Given the description of an element on the screen output the (x, y) to click on. 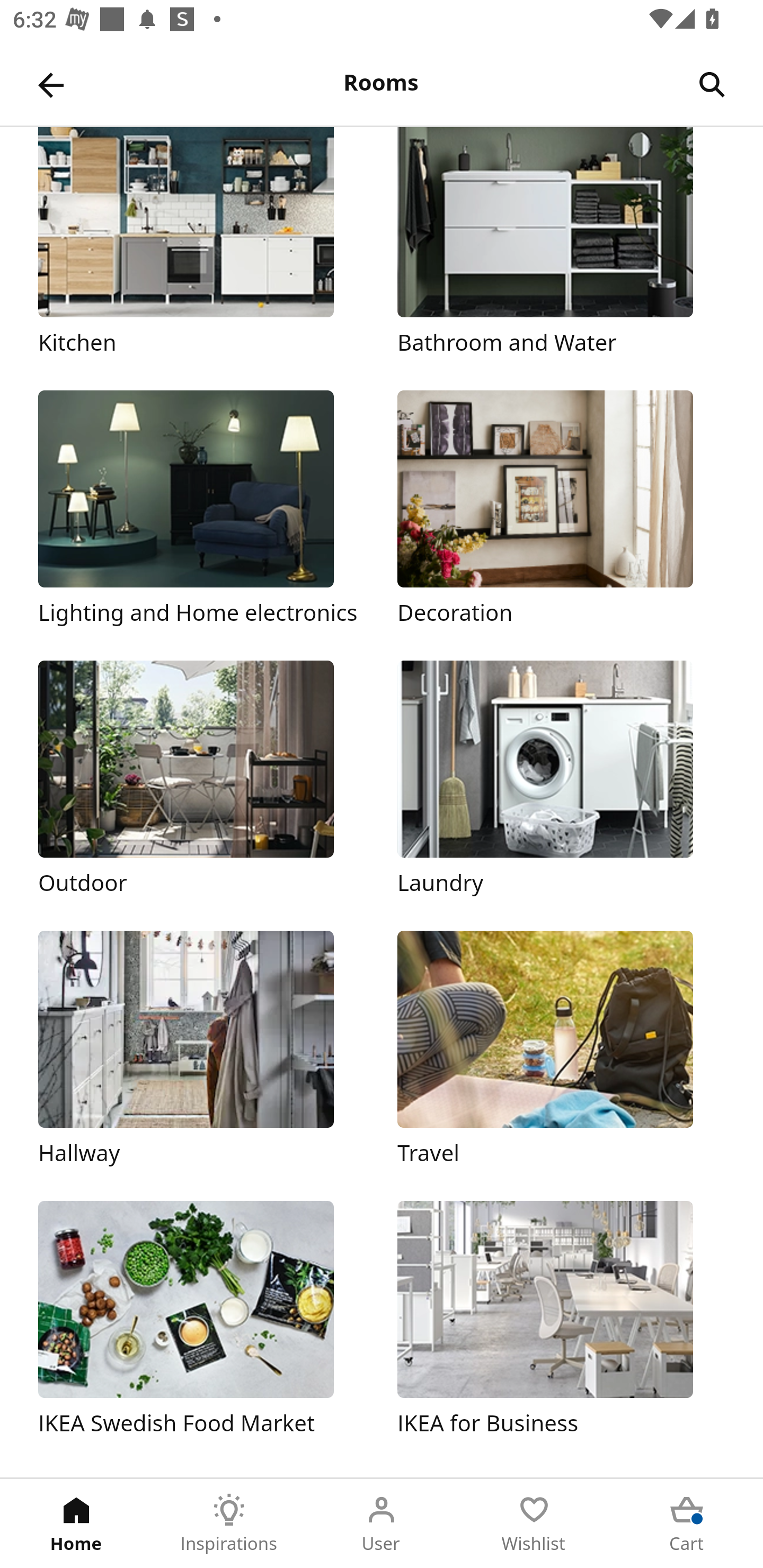
Kitchen (201, 243)
Bathroom and Water (560, 243)
Lighting and Home electronics (201, 509)
Decoration (560, 509)
Outdoor (201, 779)
Laundry (560, 779)
Hallway (201, 1050)
Travel (560, 1050)
IKEA Swedish Food Market (201, 1320)
IKEA for Business (560, 1320)
Home
Tab 1 of 5 (76, 1522)
Inspirations
Tab 2 of 5 (228, 1522)
User
Tab 3 of 5 (381, 1522)
Wishlist
Tab 4 of 5 (533, 1522)
Cart
Tab 5 of 5 (686, 1522)
